Given the description of an element on the screen output the (x, y) to click on. 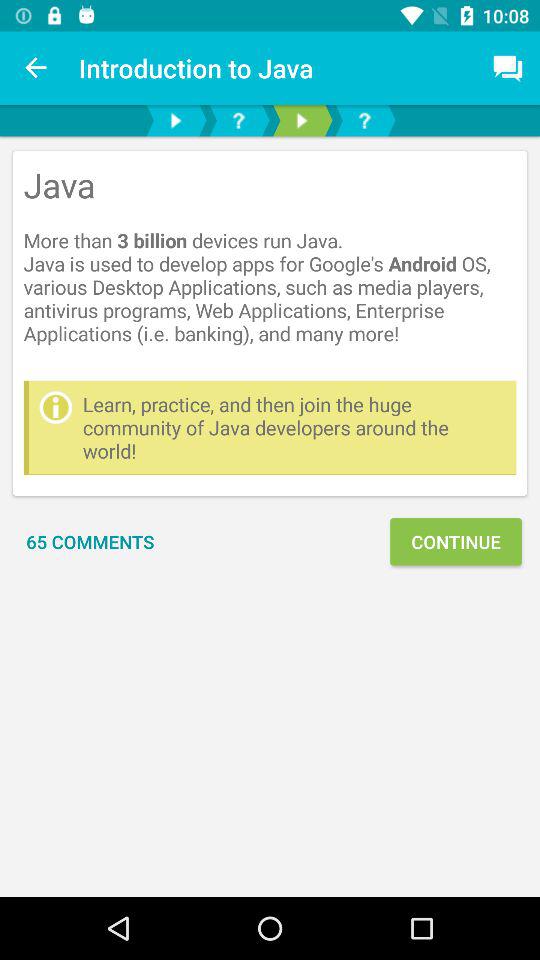
choose the icon above the java  more item (36, 68)
